Given the description of an element on the screen output the (x, y) to click on. 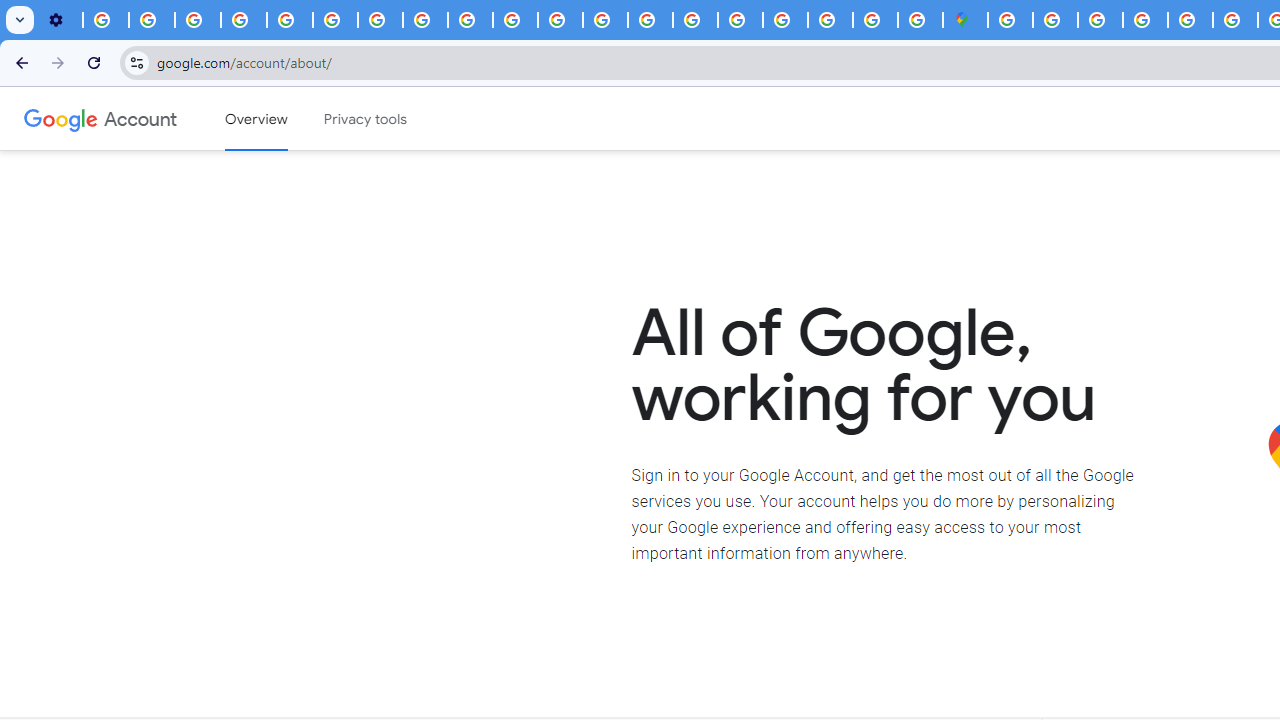
Sign in - Google Accounts (1010, 20)
Privacy Checkup (514, 20)
Learn how to find your photos - Google Photos Help (152, 20)
Privacy tools (365, 119)
Back (19, 62)
Google Maps (965, 20)
